Given the description of an element on the screen output the (x, y) to click on. 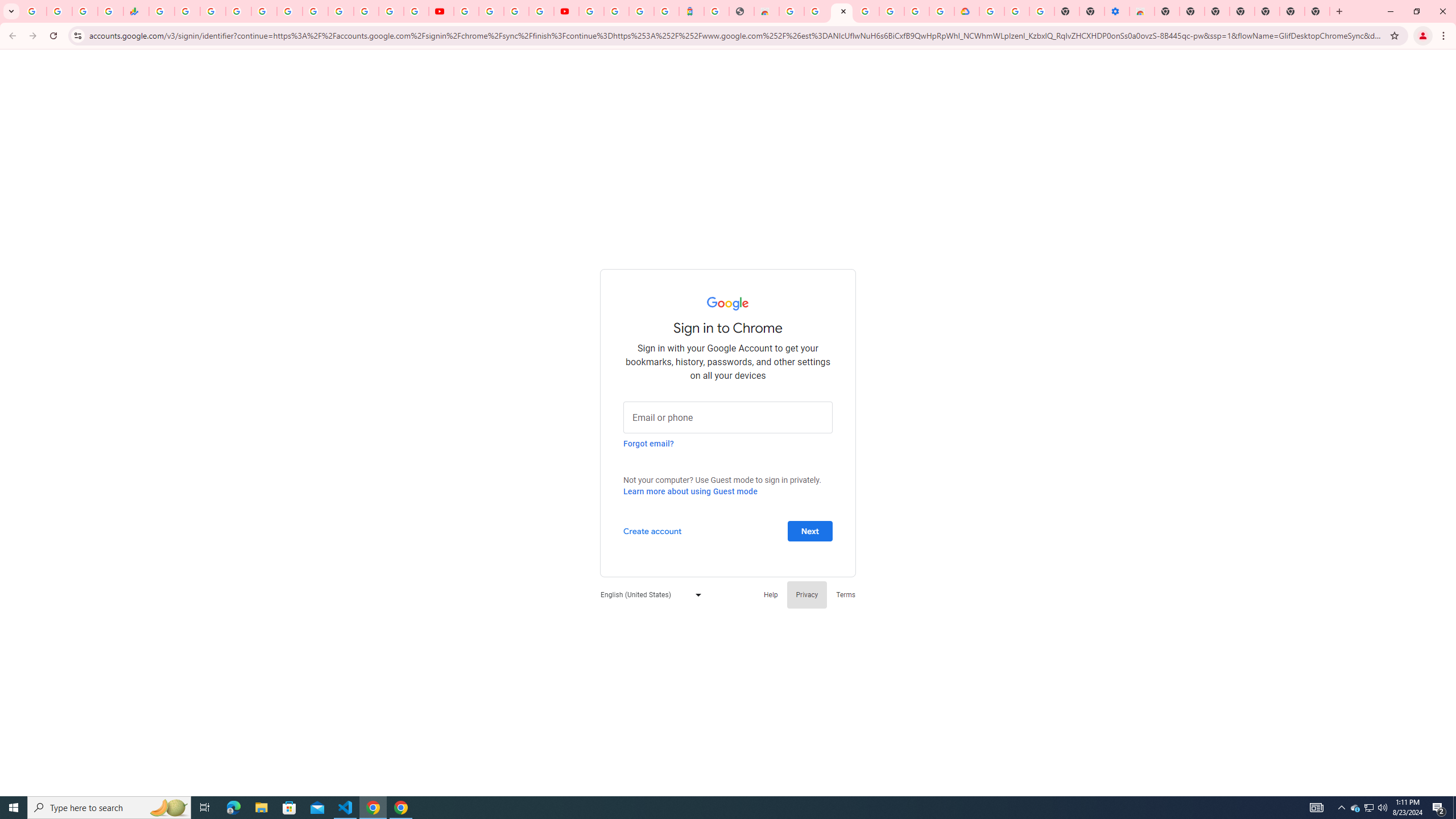
New Tab (1166, 11)
Email or phone (727, 416)
Chrome Web Store - Accessibility extensions (1141, 11)
Sign in - Google Accounts (238, 11)
Settings - Accessibility (1116, 11)
Atour Hotel - Google hotels (691, 11)
Ad Settings (816, 11)
